Given the description of an element on the screen output the (x, y) to click on. 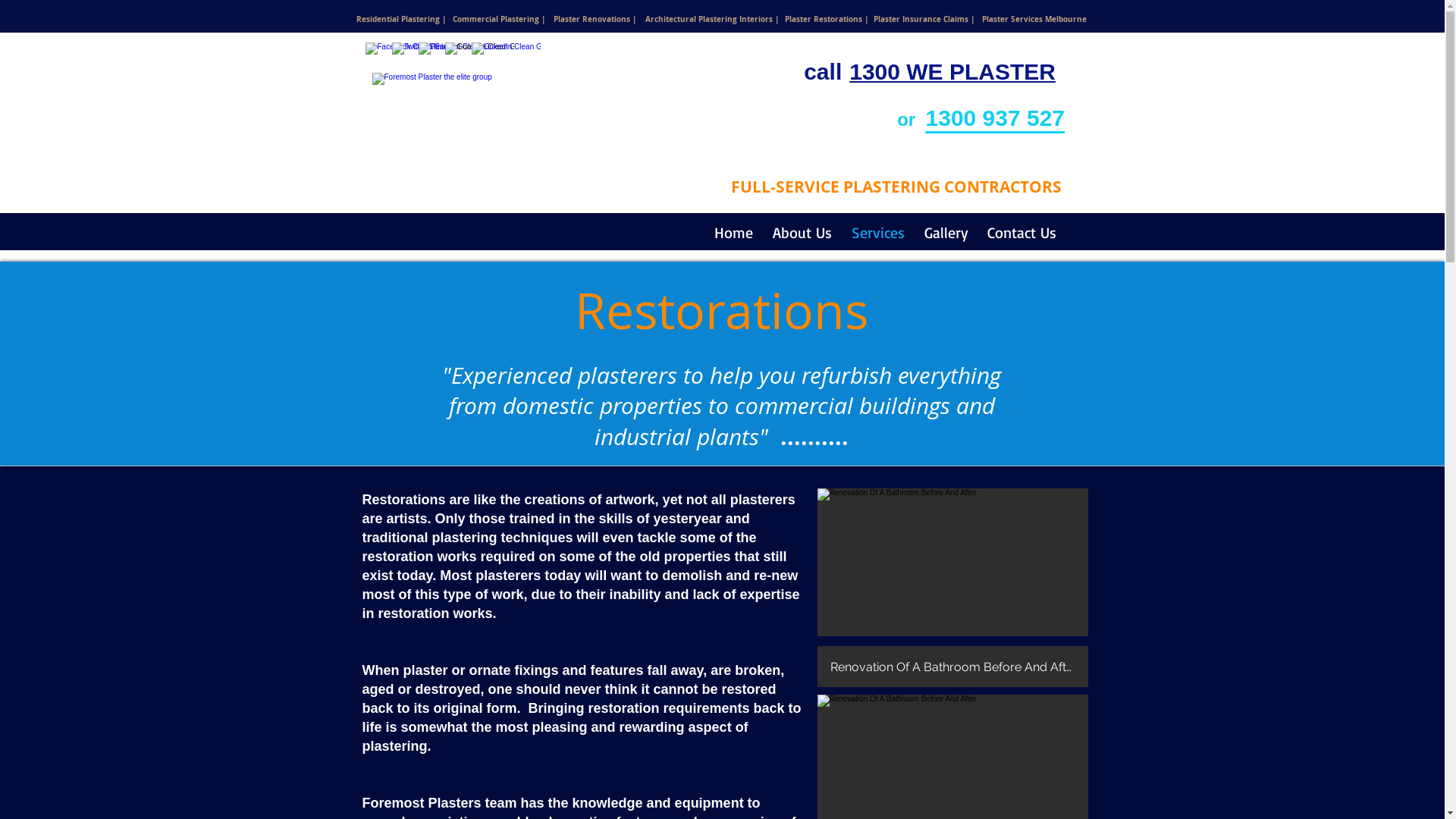
Foremost Plaster  Element type: hover (572, 123)
Plaster Insurance Claims | Element type: text (923, 18)
Gallery Element type: text (943, 232)
1300 937 527  Element type: text (998, 117)
1300 WE PLASTER Element type: text (952, 72)
Plaster Services Melbourne Element type: text (1033, 18)
Plaster Renovations | Element type: text (595, 18)
Contact Us Element type: text (1019, 232)
Residential Plastering | Element type: text (400, 18)
About Us Element type: text (798, 232)
Commercial Plastering | Element type: text (499, 18)
Services Element type: text (874, 232)
Home Element type: text (731, 232)
Architectural Plastering Interiors | Element type: text (711, 18)
Plaster Restorations | Element type: text (826, 18)
